Given the description of an element on the screen output the (x, y) to click on. 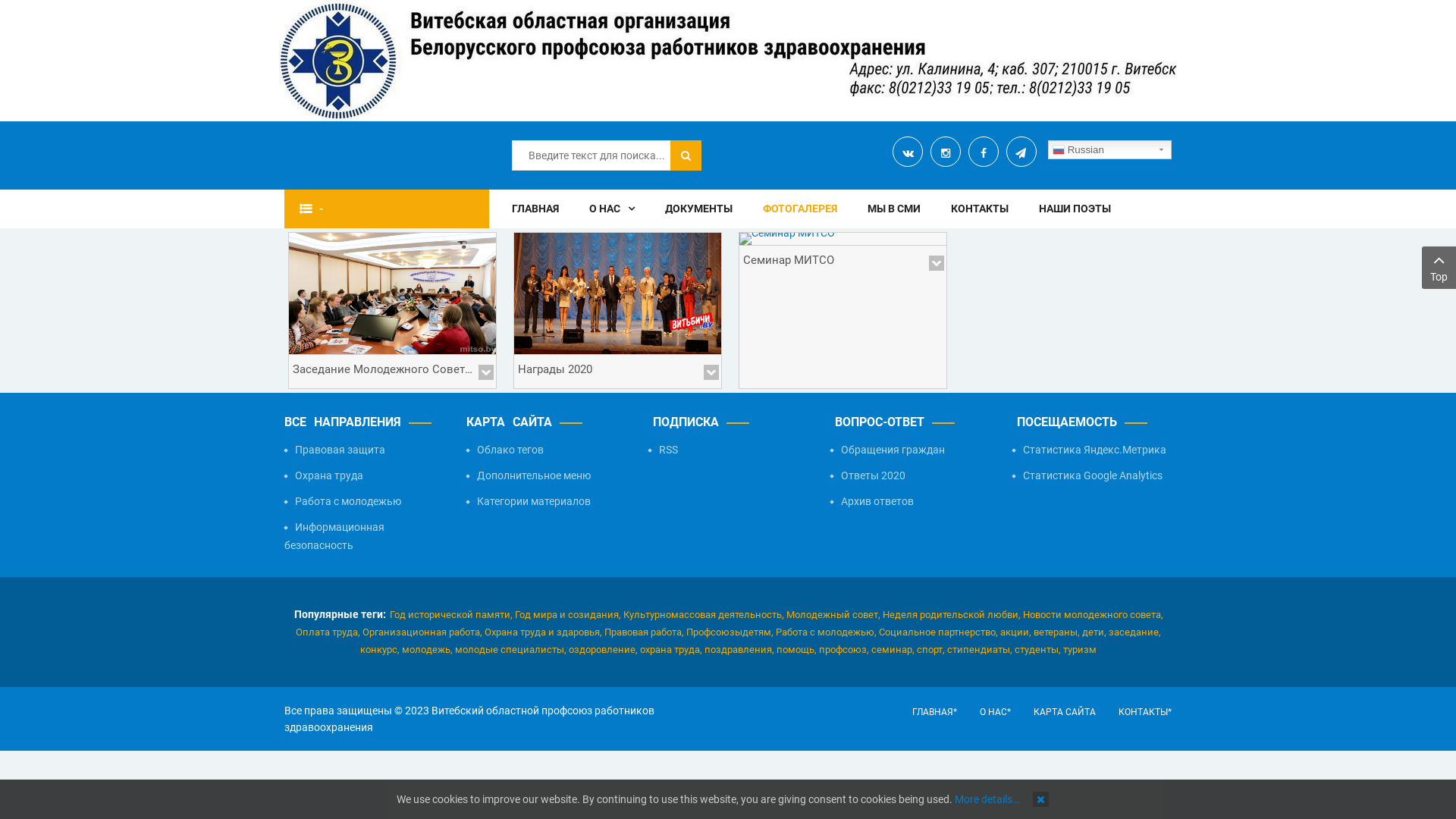
Russian Element type: text (1109, 149)
RSS Element type: text (727, 449)
